Given the description of an element on the screen output the (x, y) to click on. 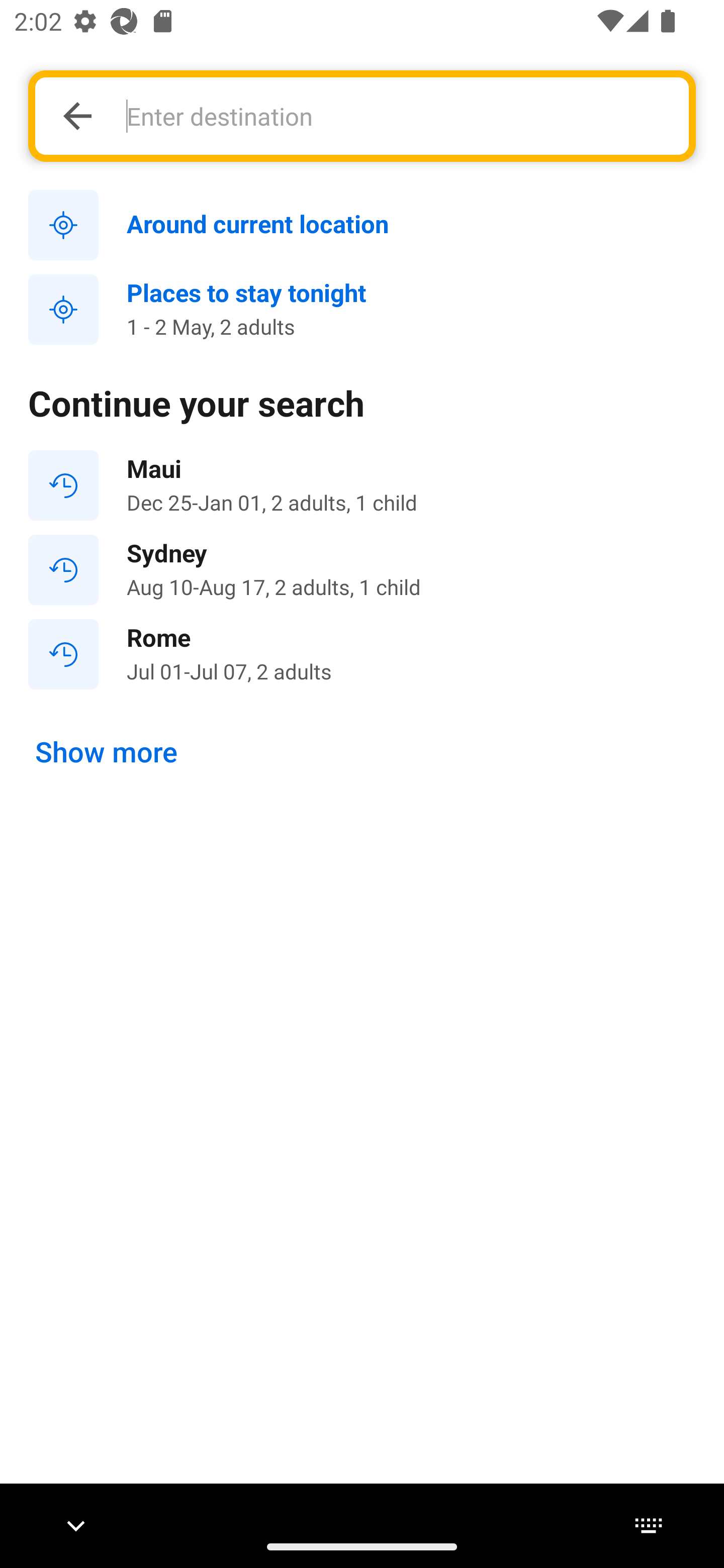
Enter destination (396, 115)
Around current location (362, 225)
Places to stay tonight 1 - 2 May, 2 adults (362, 309)
Maui Dec 25-Jan 01, 2 adults, 1 child (362, 485)
Sydney Aug 10-Aug 17, 2 adults, 1 child (362, 569)
Rome Jul 01-Jul 07, 2 adults  (362, 653)
Show more (106, 752)
